Given the description of an element on the screen output the (x, y) to click on. 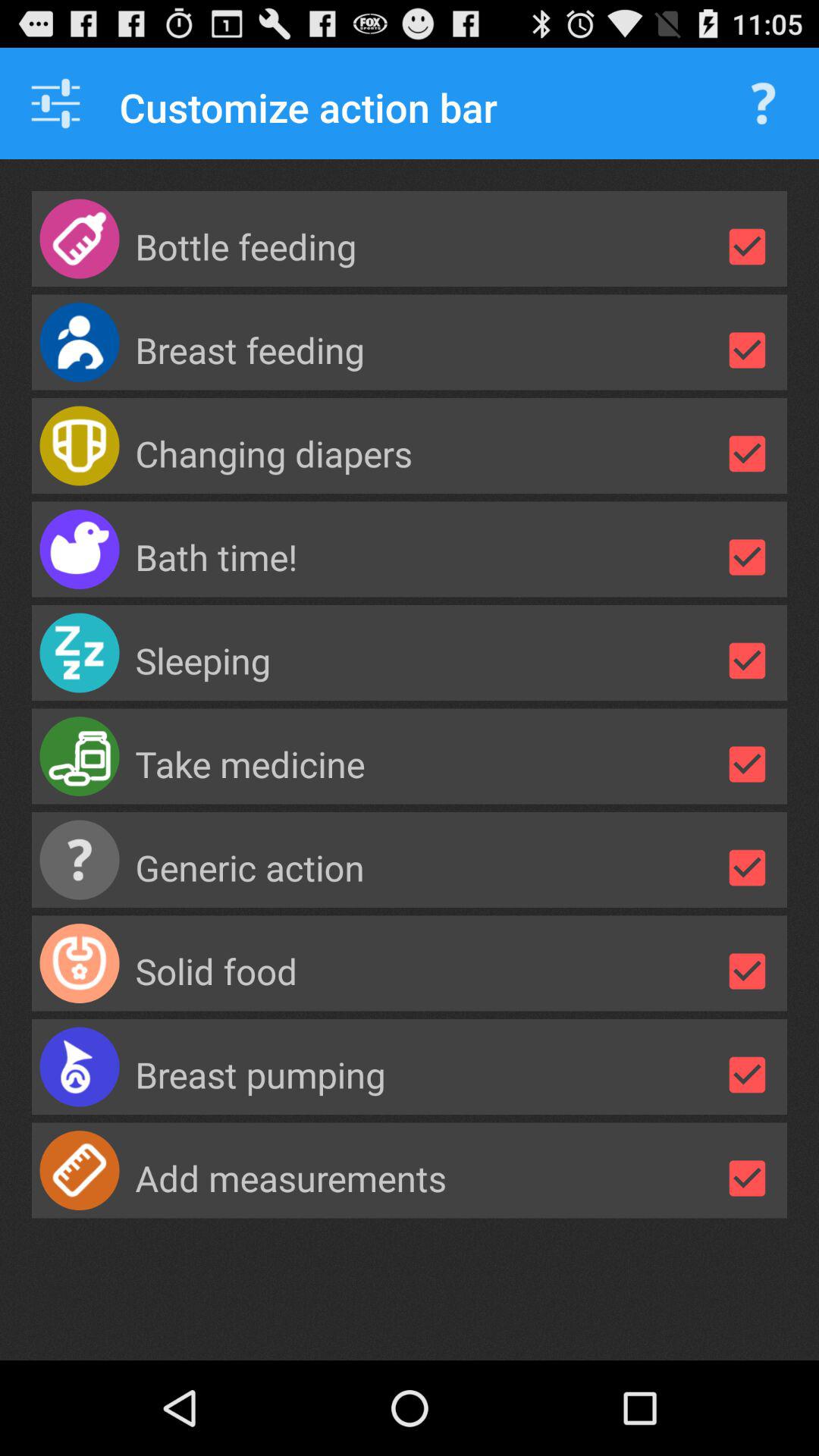
query option (763, 103)
